Given the description of an element on the screen output the (x, y) to click on. 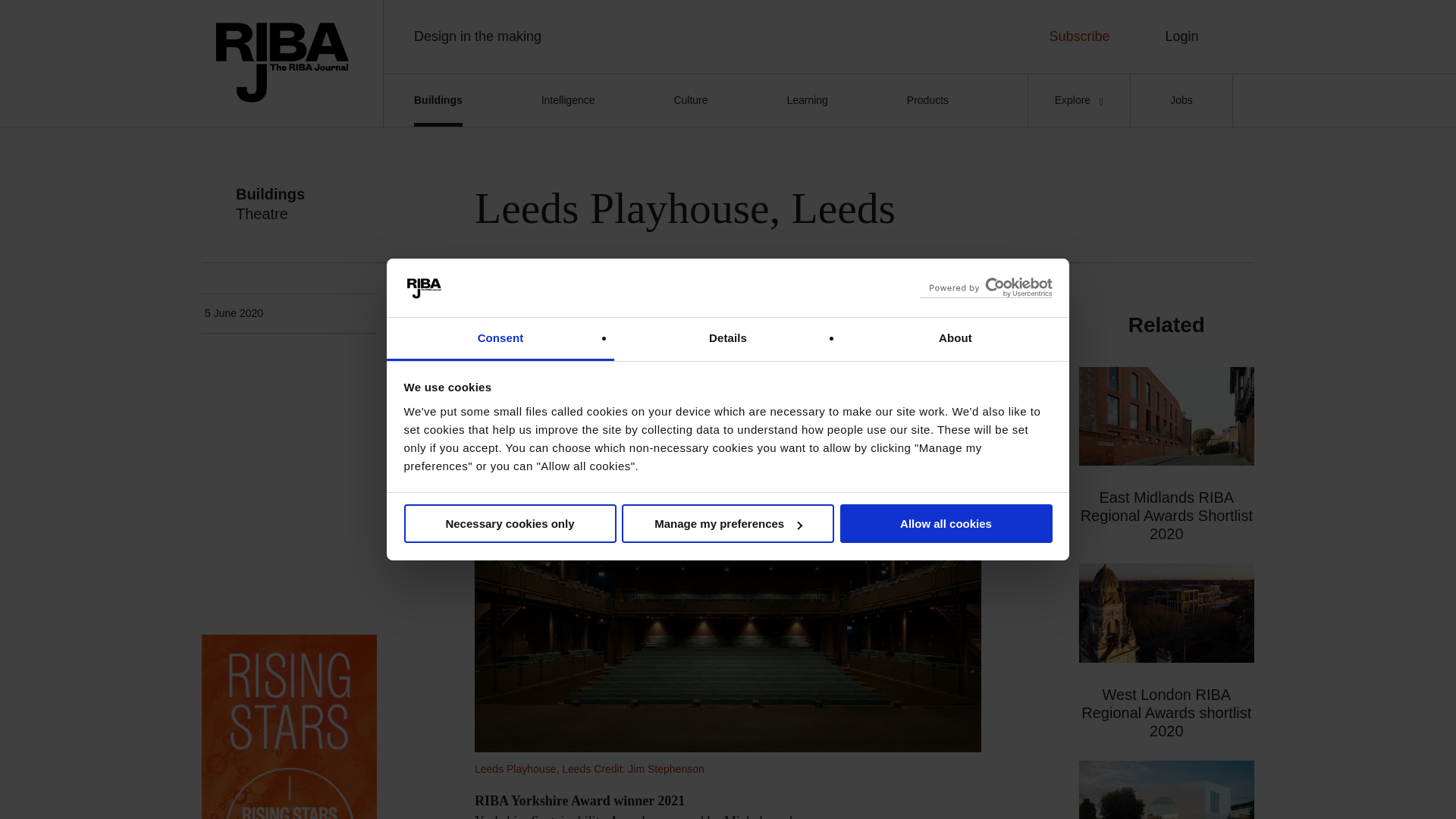
Consent (500, 339)
About (954, 339)
Details (727, 339)
